Given the description of an element on the screen output the (x, y) to click on. 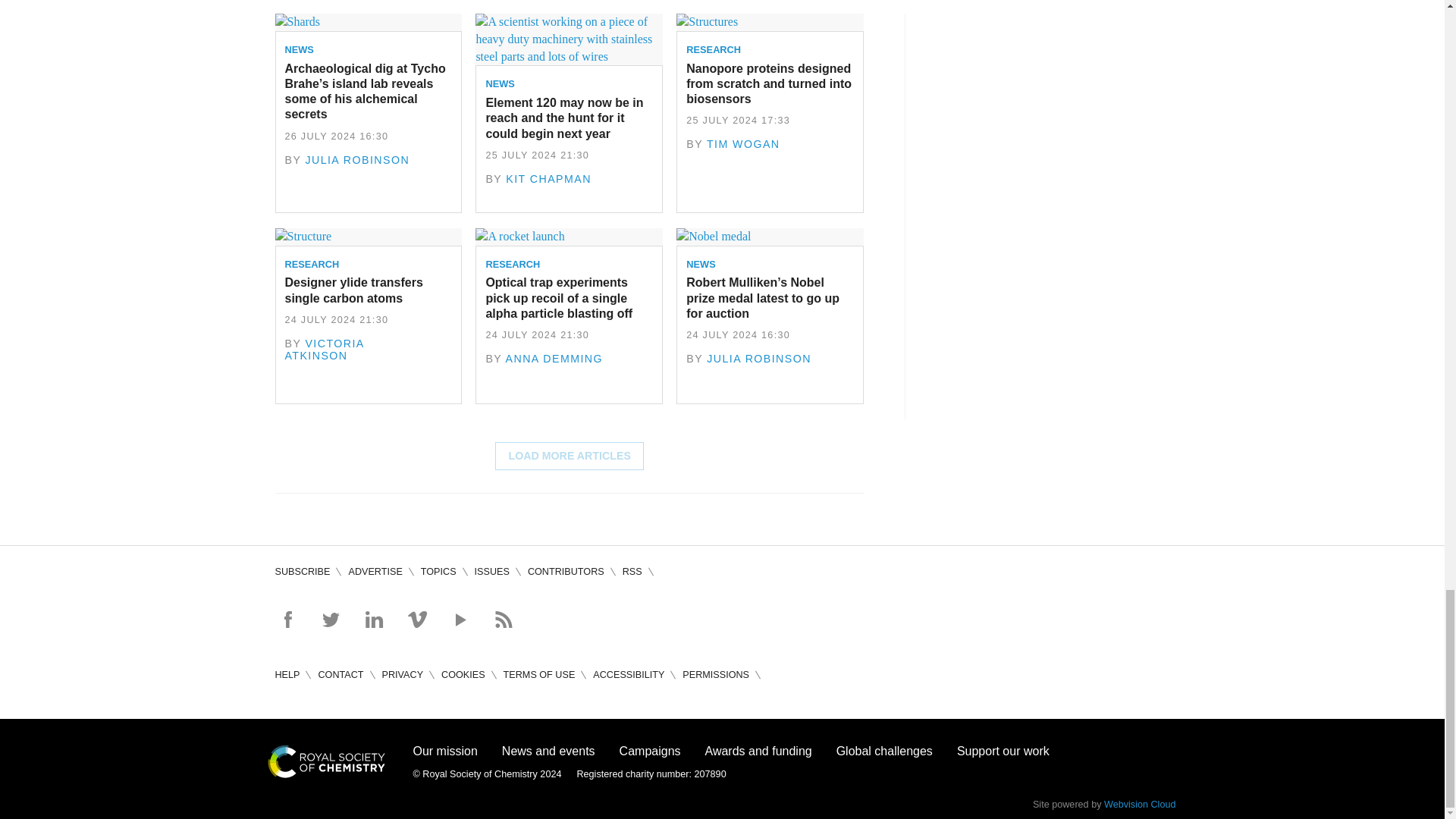
Follow on Facebook (287, 619)
Connect on Linked in (373, 619)
Follow on Twitter (330, 619)
Watch on Vimeo (416, 619)
